Given the description of an element on the screen output the (x, y) to click on. 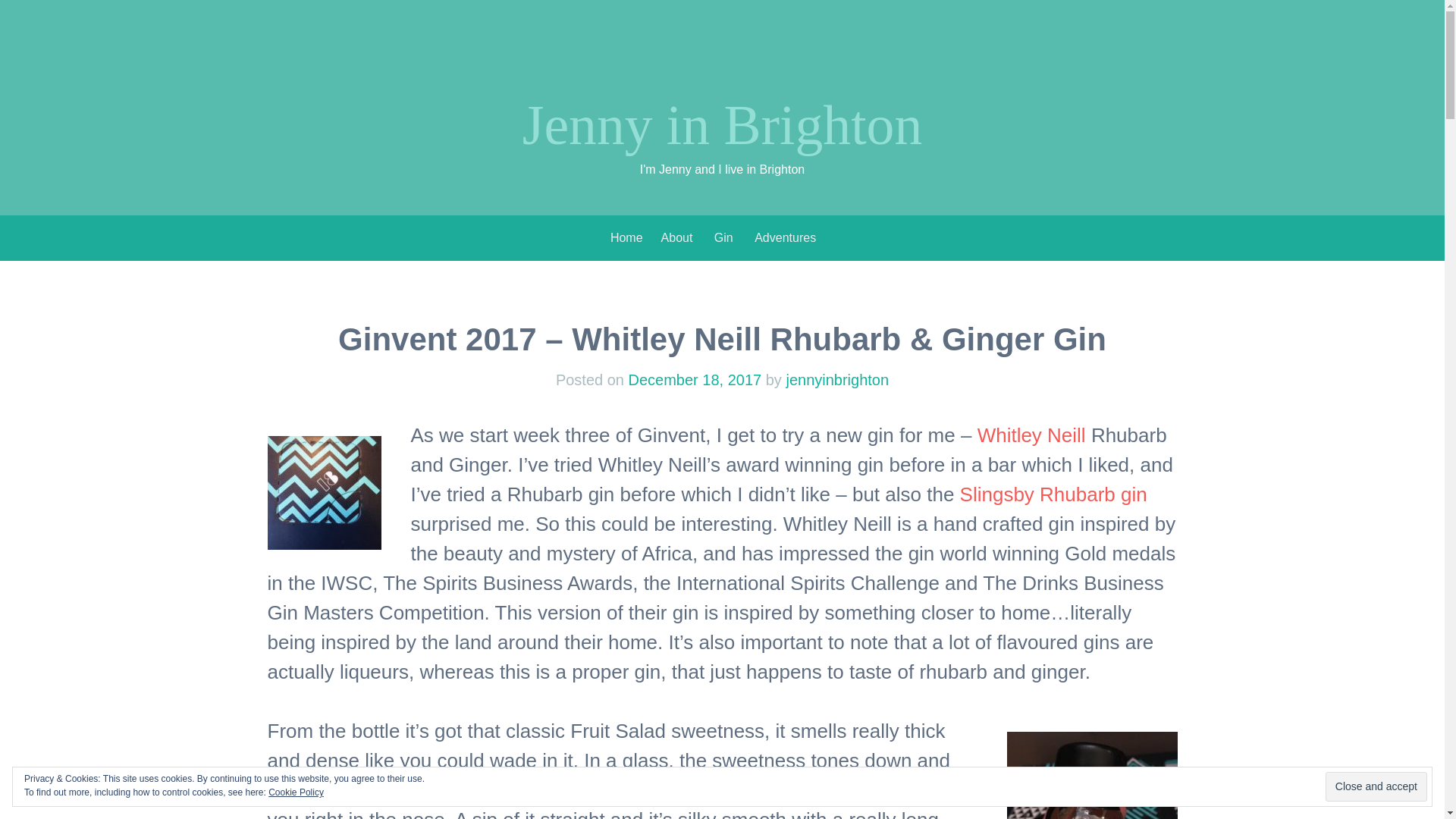
About (677, 237)
jennyinbrighton (837, 379)
December 18, 2017 (694, 379)
Whitley Neill (1031, 435)
Slingsby Rhubarb gin (1053, 494)
Home (626, 237)
Close and accept (1375, 786)
Adventures (784, 237)
Jenny in Brighton (721, 125)
